Given the description of an element on the screen output the (x, y) to click on. 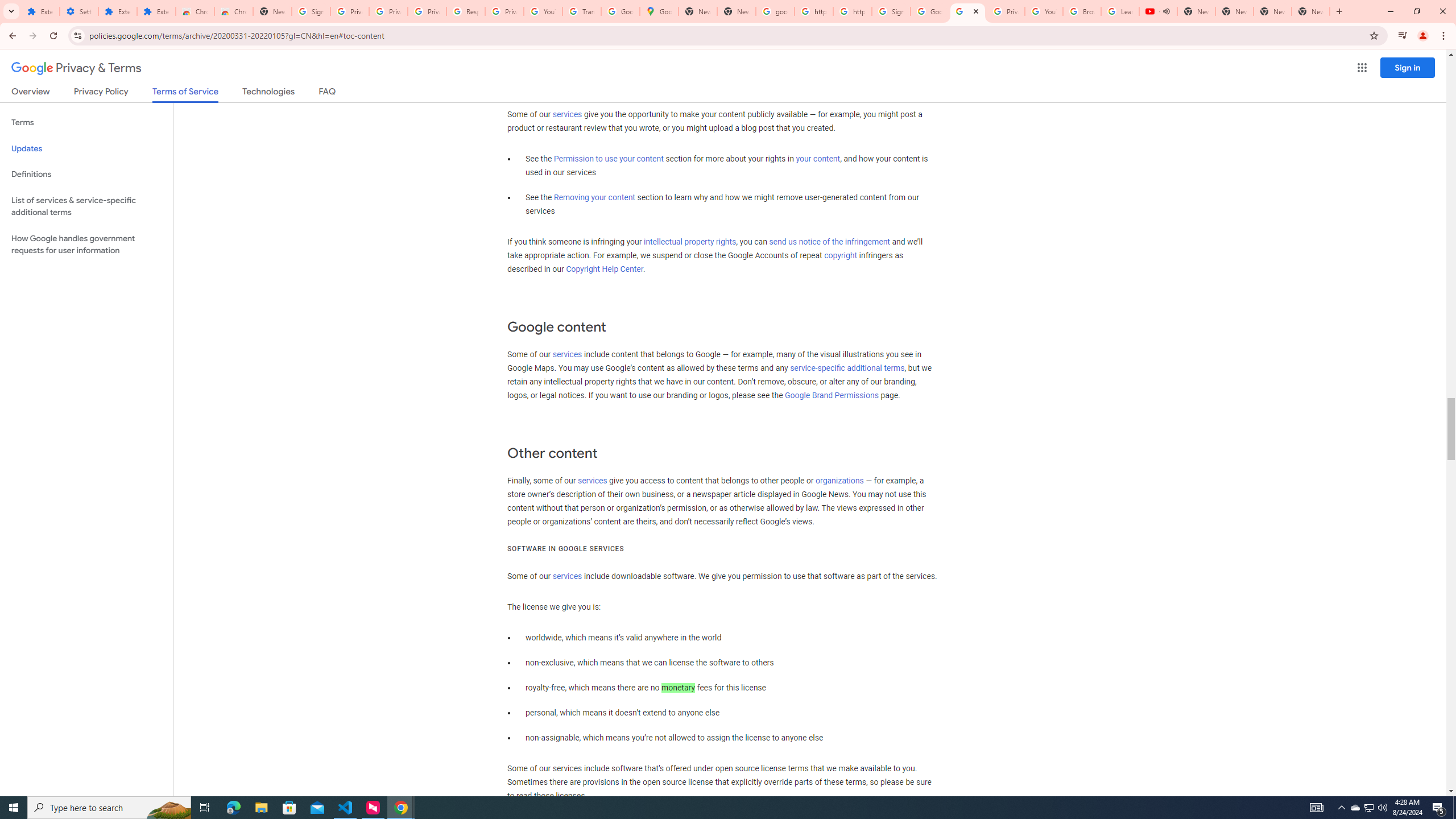
Extensions (117, 11)
New Tab (1311, 11)
YouTube (1043, 11)
Removing your content (593, 197)
Chrome Web Store (194, 11)
Extensions (40, 11)
your content (817, 158)
Sign in - Google Accounts (890, 11)
